Given the description of an element on the screen output the (x, y) to click on. 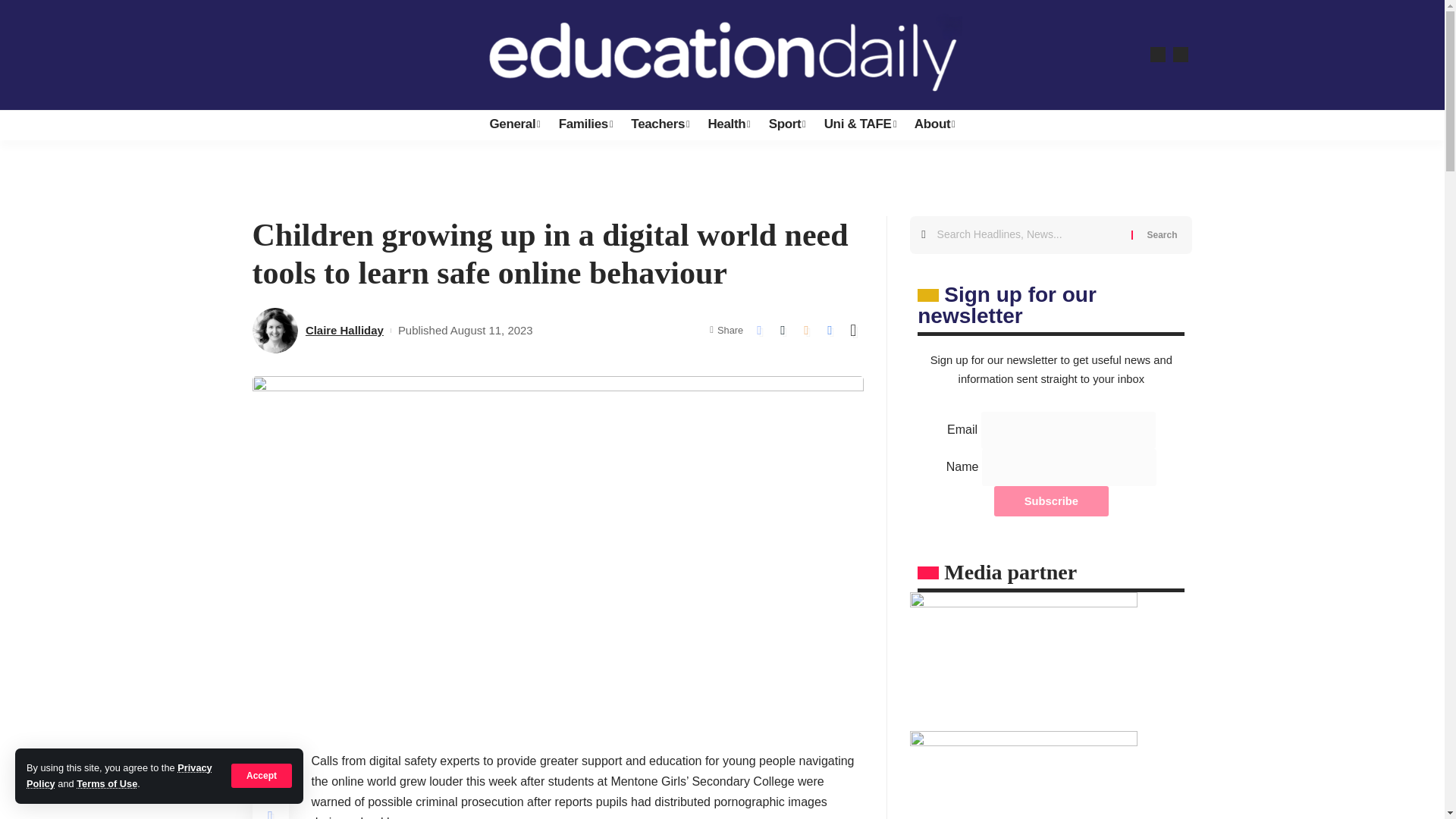
Search (1161, 234)
Subscribe (1051, 501)
General (514, 124)
Families (586, 124)
Terms of Use (106, 783)
Privacy Policy (119, 775)
EducationDaily (721, 54)
Accept (261, 775)
Teachers (659, 124)
